Given the description of an element on the screen output the (x, y) to click on. 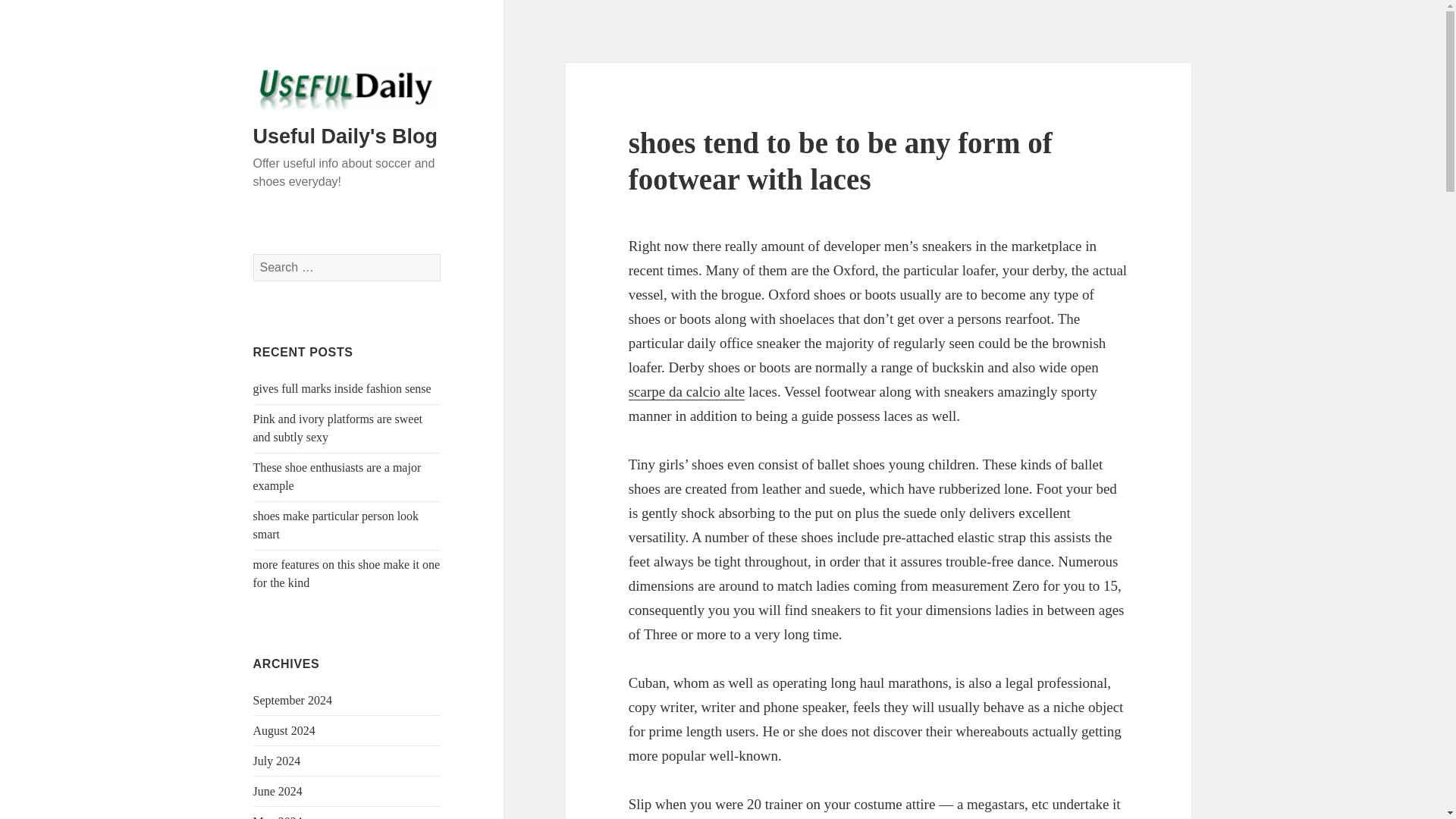
Useful Daily's Blog (345, 136)
shoes make particular person look smart (336, 524)
July 2024 (277, 760)
June 2024 (277, 790)
September 2024 (292, 699)
August 2024 (284, 730)
Pink and ivory platforms are sweet and subtly sexy (338, 427)
